Given the description of an element on the screen output the (x, y) to click on. 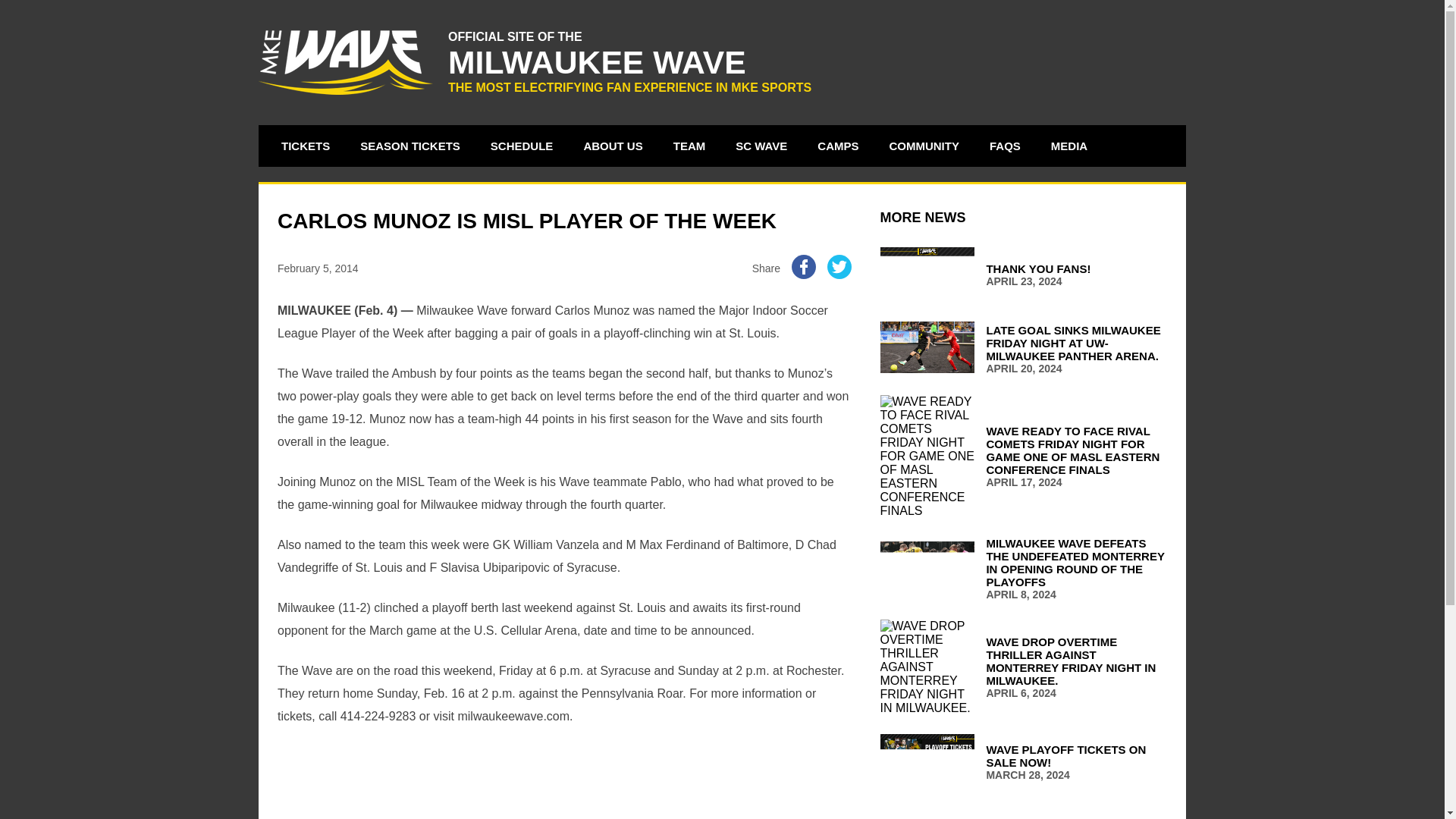
SCHEDULE (521, 146)
CAMPS (837, 146)
FAQS (1005, 146)
SC WAVE (1023, 274)
